Given the description of an element on the screen output the (x, y) to click on. 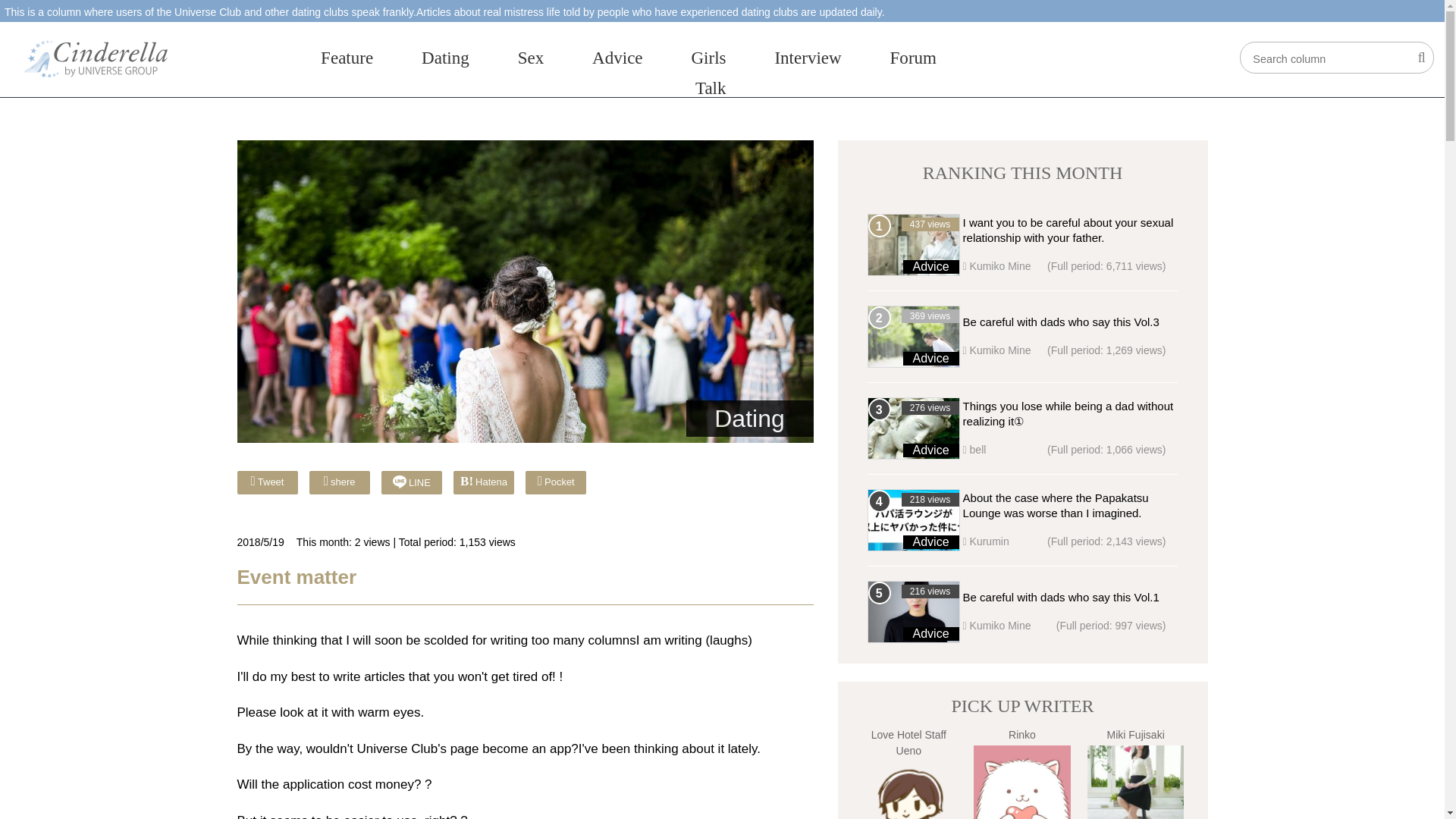
Sex (531, 57)
Be careful with dads who say this Vol.1 (1060, 596)
shere (338, 480)
LINE (411, 478)
Dating (749, 418)
Miki Fujisaki (1136, 782)
Hatena (482, 480)
Forum (912, 57)
Feature (346, 57)
Love Hotel Staff Ueno (908, 790)
Girls Talk (707, 72)
Rinko (1022, 782)
Be careful with dads who say this Vol.3 (1060, 321)
